Given the description of an element on the screen output the (x, y) to click on. 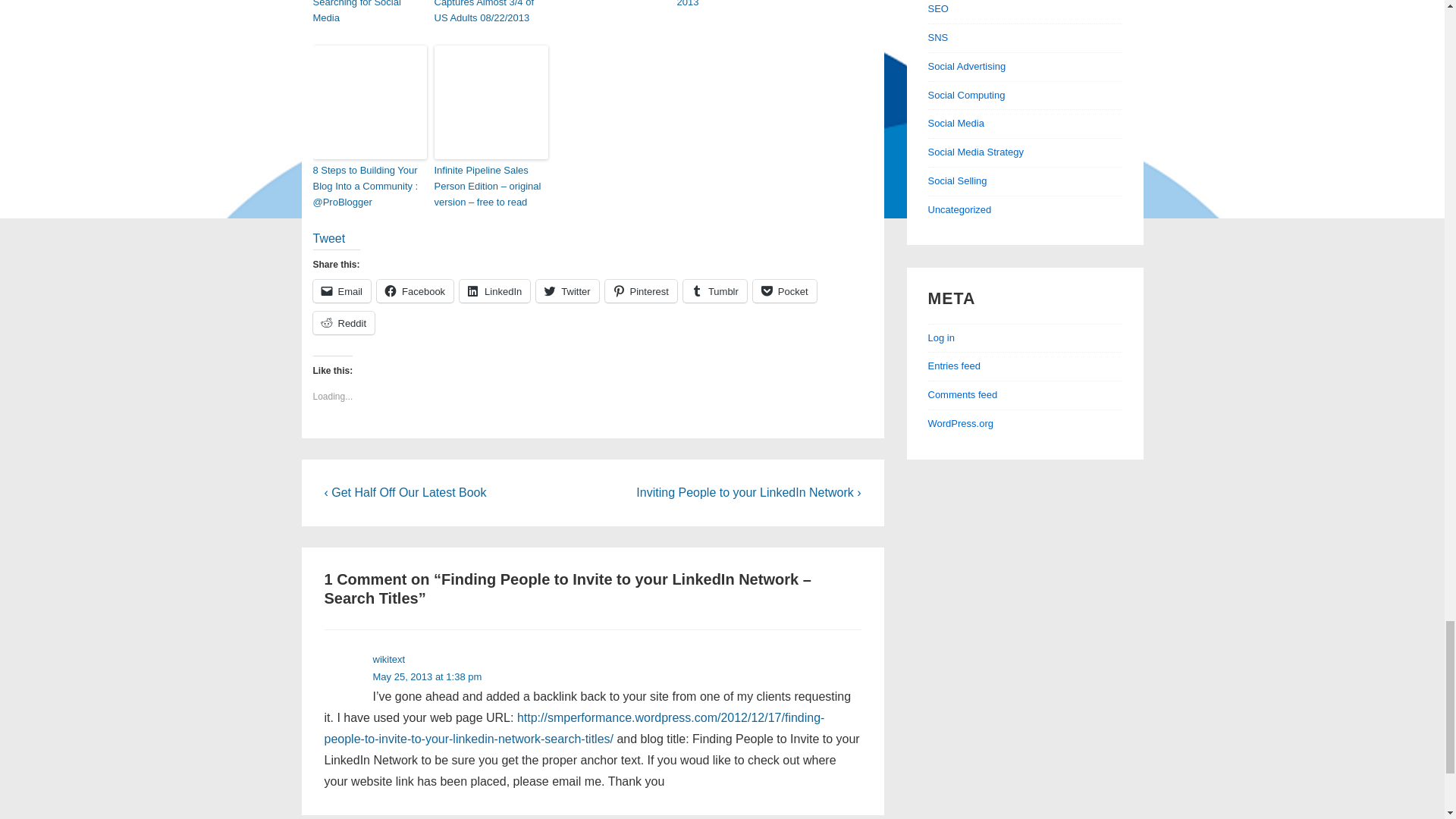
Click to email a link to a friend (342, 291)
Click to share on Pocket (784, 291)
Click to share on LinkedIn (494, 291)
5 Digital Media Trends for 2013 (733, 5)
Click to share on Tumblr (714, 291)
Tweet (329, 237)
Pinterest (641, 291)
LinkedIn (494, 291)
Email (342, 291)
Advanced Google Searching for Social Media (369, 13)
